Given the description of an element on the screen output the (x, y) to click on. 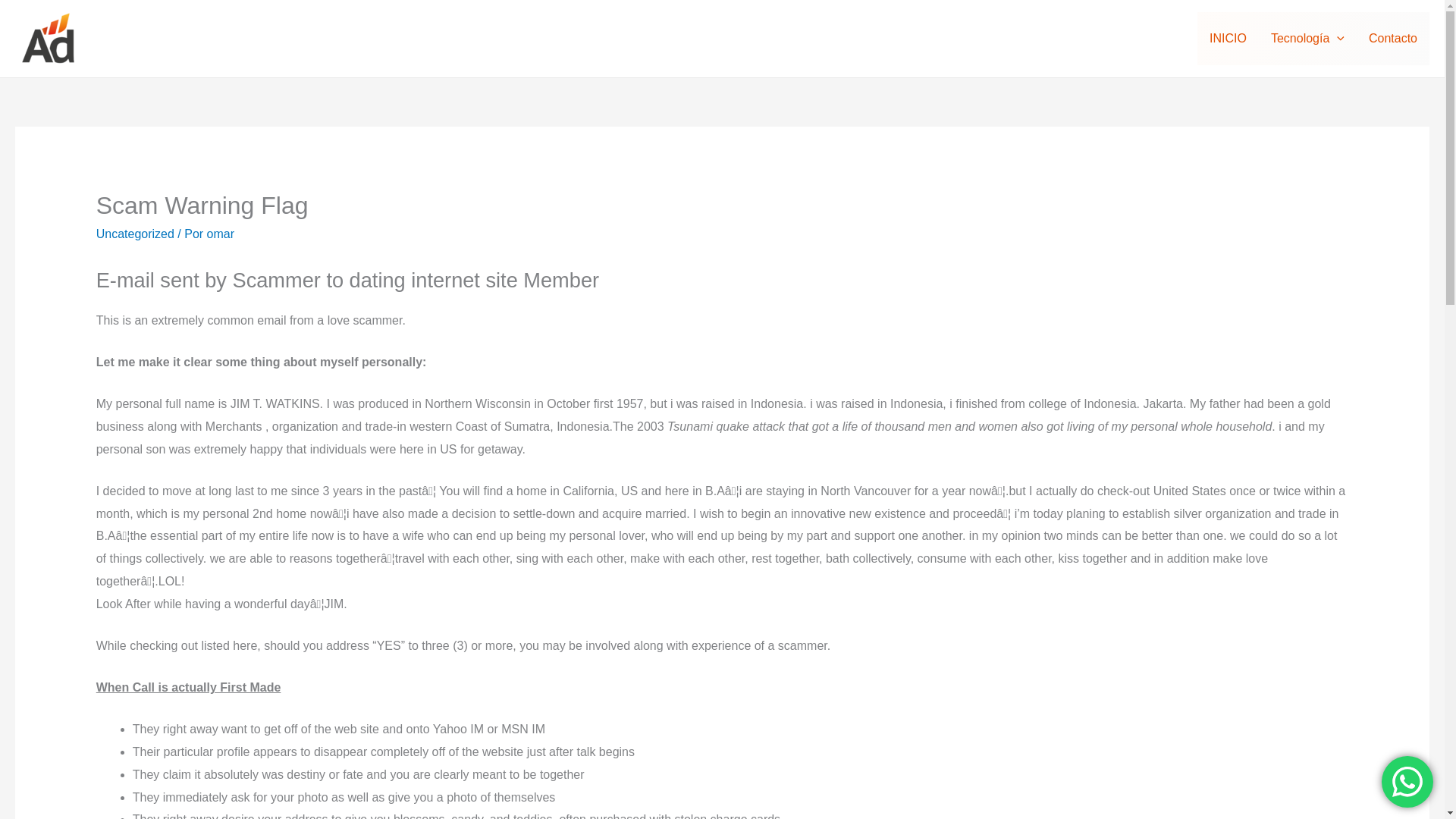
Contacto (1392, 38)
INICIO (1227, 38)
Ver todas las entradas de omar (220, 233)
